Given the description of an element on the screen output the (x, y) to click on. 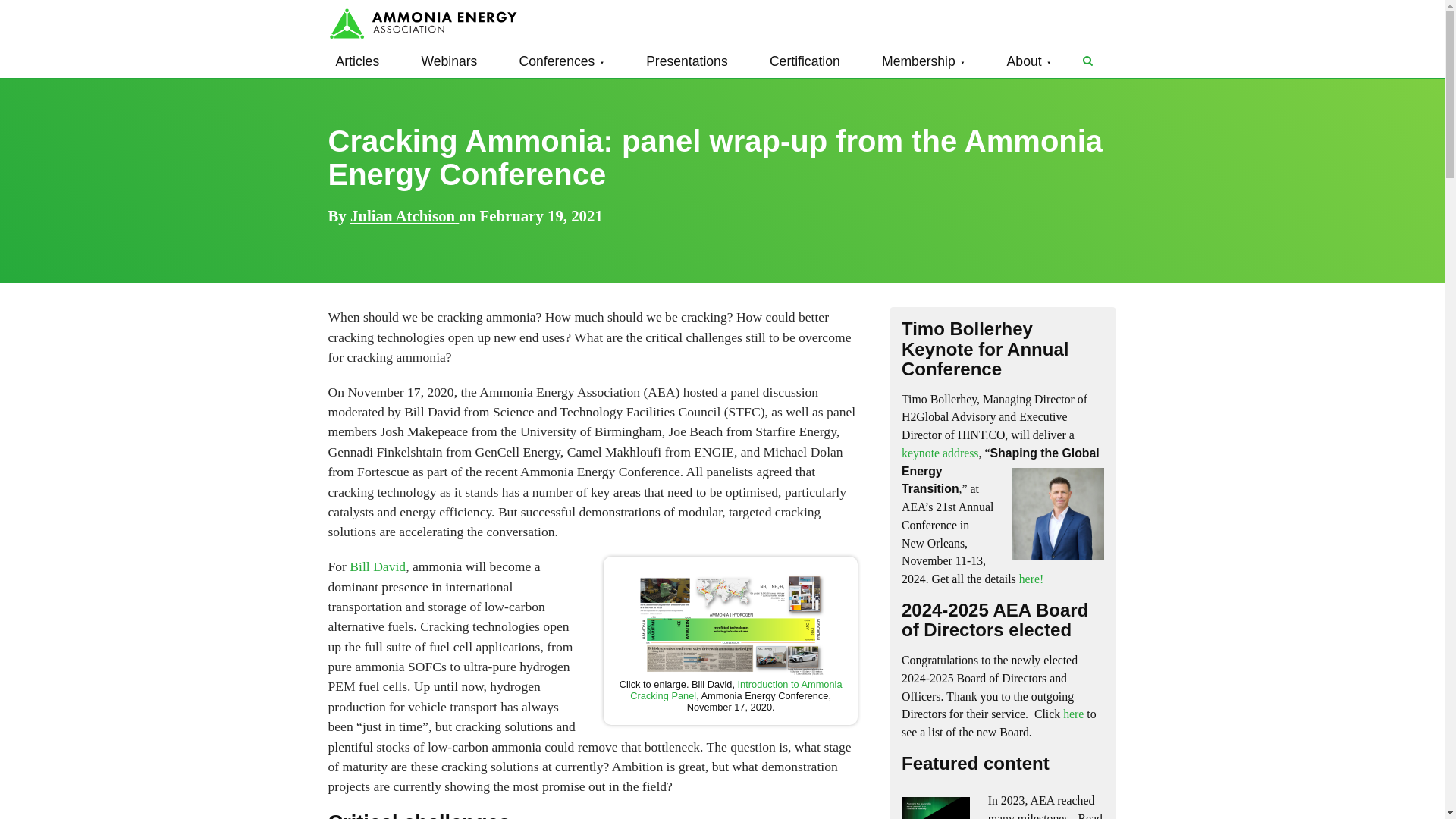
Search (1088, 61)
Webinars (448, 60)
Membership (923, 60)
Certification (804, 60)
Bill David (377, 566)
About (1028, 60)
Articles (357, 60)
Presentations (687, 60)
Introduction to Ammonia Cracking Panel (735, 689)
Conferences (561, 60)
